Given the description of an element on the screen output the (x, y) to click on. 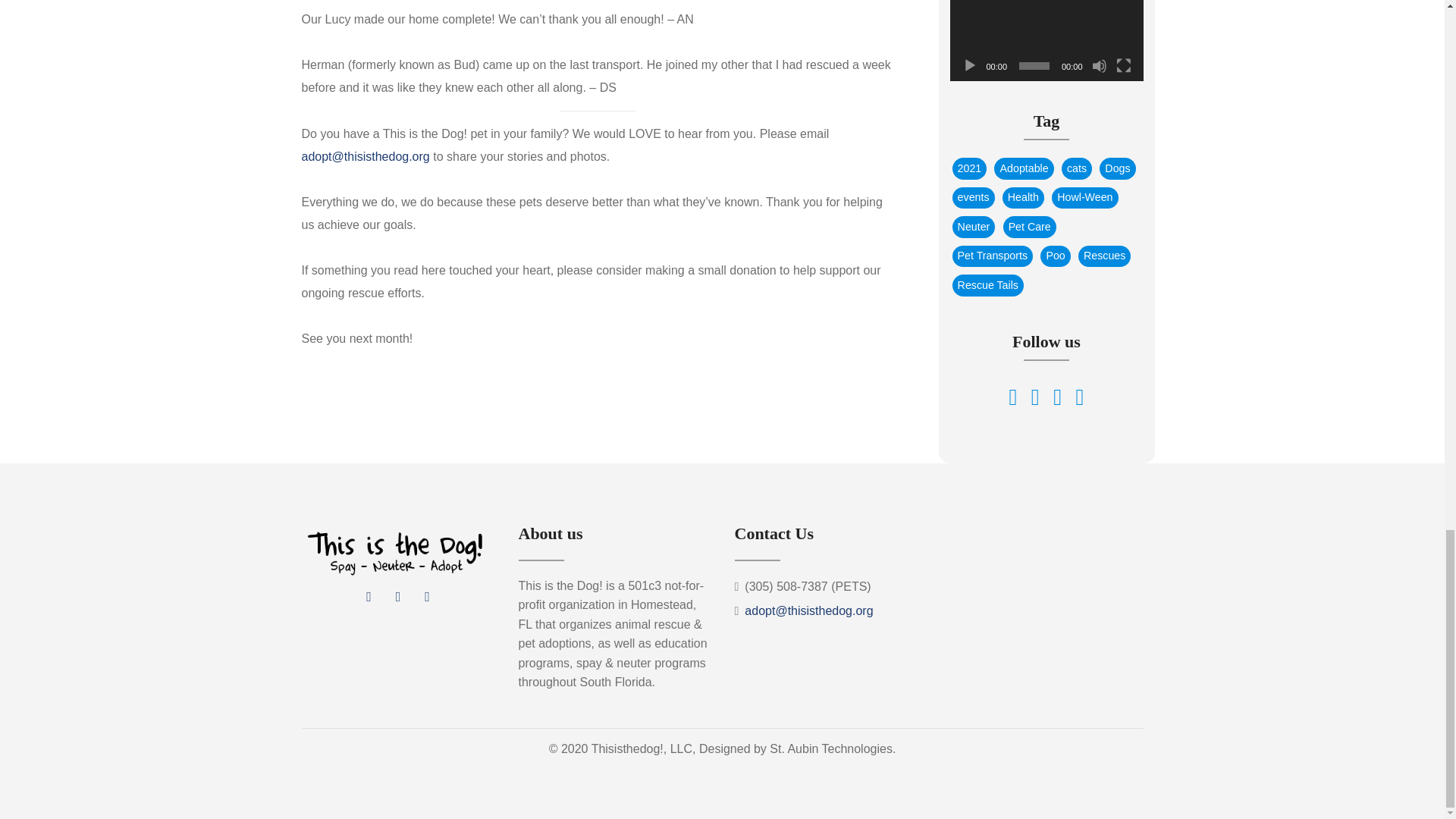
Mute (1099, 65)
Facebook (368, 596)
Youtube (426, 596)
Fullscreen (1123, 65)
Play (968, 65)
Instagram (397, 596)
